Given the description of an element on the screen output the (x, y) to click on. 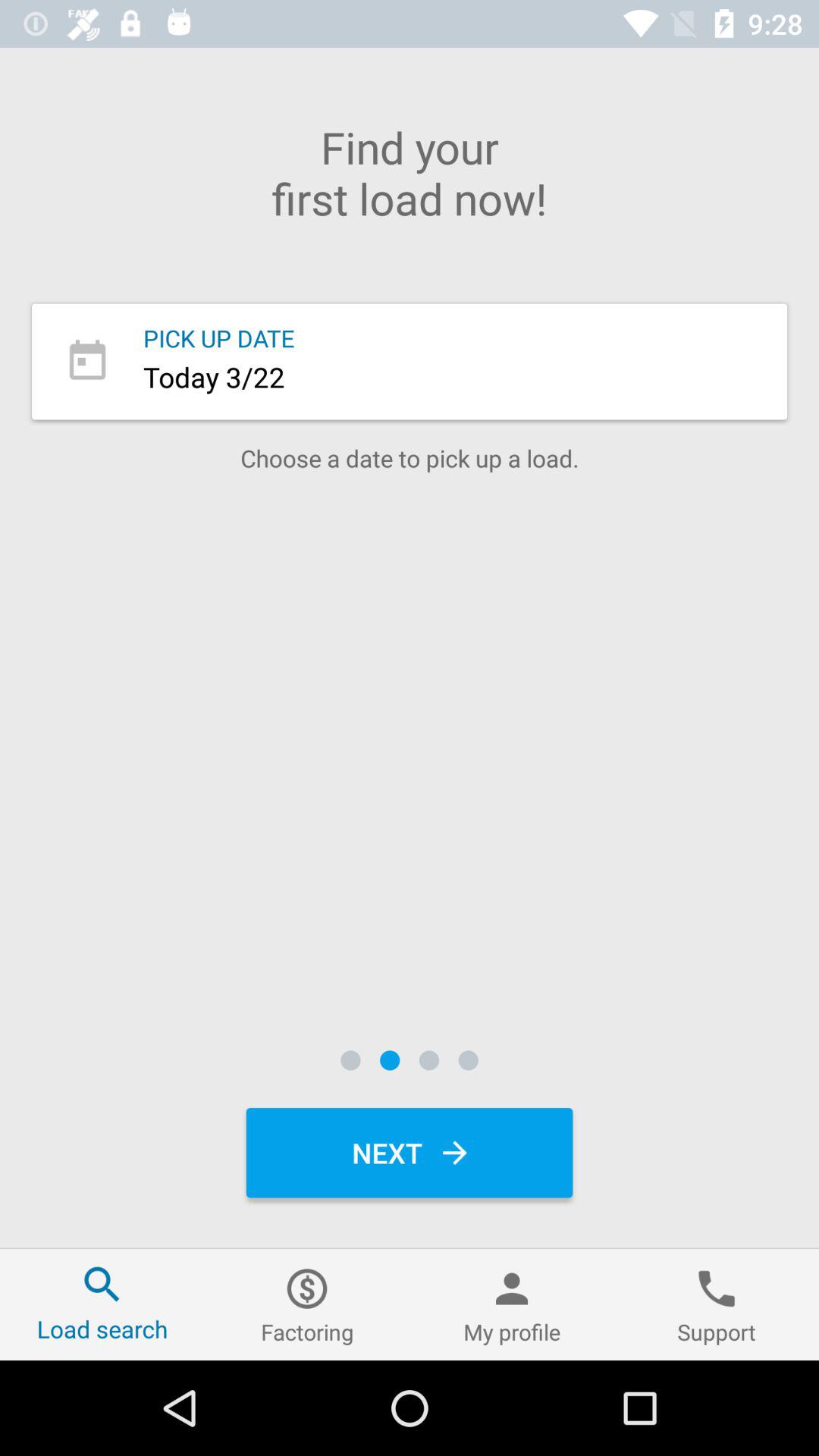
click on next (409, 1152)
click on the button beside support (511, 1304)
click on support on the right side of my profile (716, 1304)
click on icon on the left side of pick up date (87, 361)
